Given the description of an element on the screen output the (x, y) to click on. 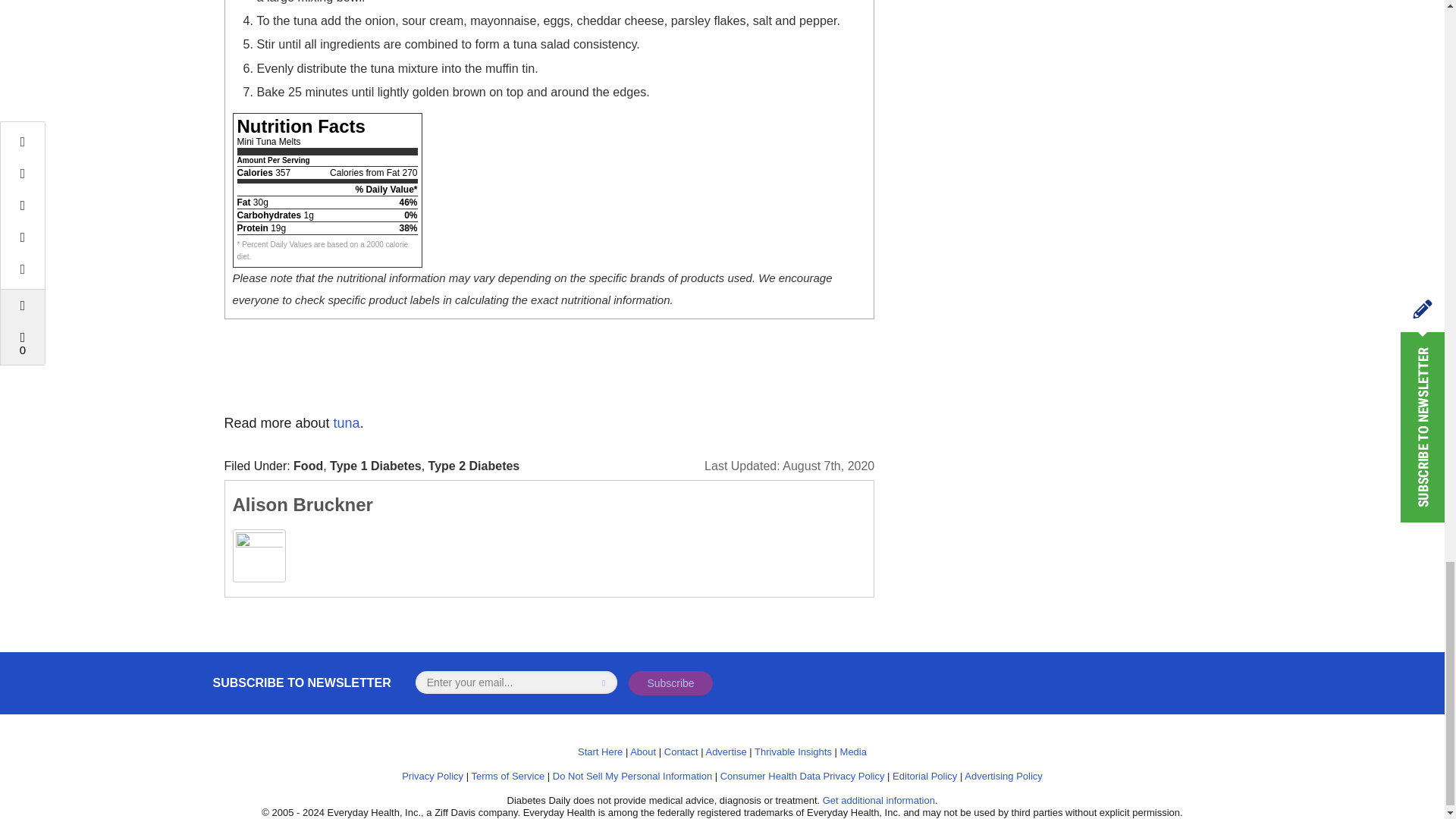
All posts by Alison Bruckner (301, 504)
